Given the description of an element on the screen output the (x, y) to click on. 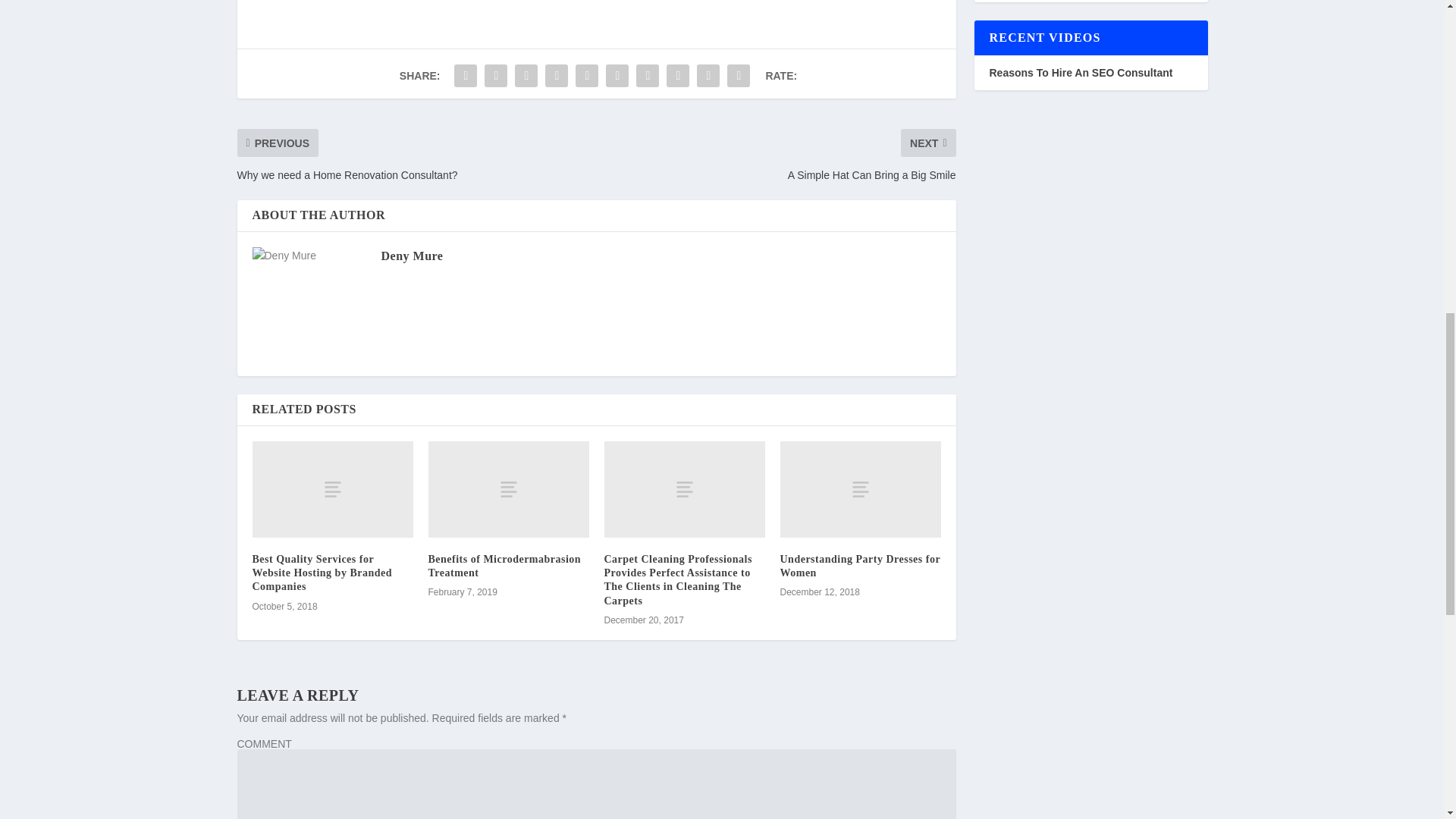
Share "Smoke Detectors save Lives" via Facebook (464, 75)
Share "Smoke Detectors save Lives" via LinkedIn (616, 75)
Share "Smoke Detectors save Lives" via Print (738, 75)
Share "Smoke Detectors save Lives" via Tumblr (556, 75)
Share "Smoke Detectors save Lives" via Pinterest (587, 75)
Share "Smoke Detectors save Lives" via Email (708, 75)
View all posts by Deny Mure (411, 255)
Share "Smoke Detectors save Lives" via Buffer (646, 75)
Share "Smoke Detectors save Lives" via Stumbleupon (677, 75)
Deny Mure (411, 255)
